Given the description of an element on the screen output the (x, y) to click on. 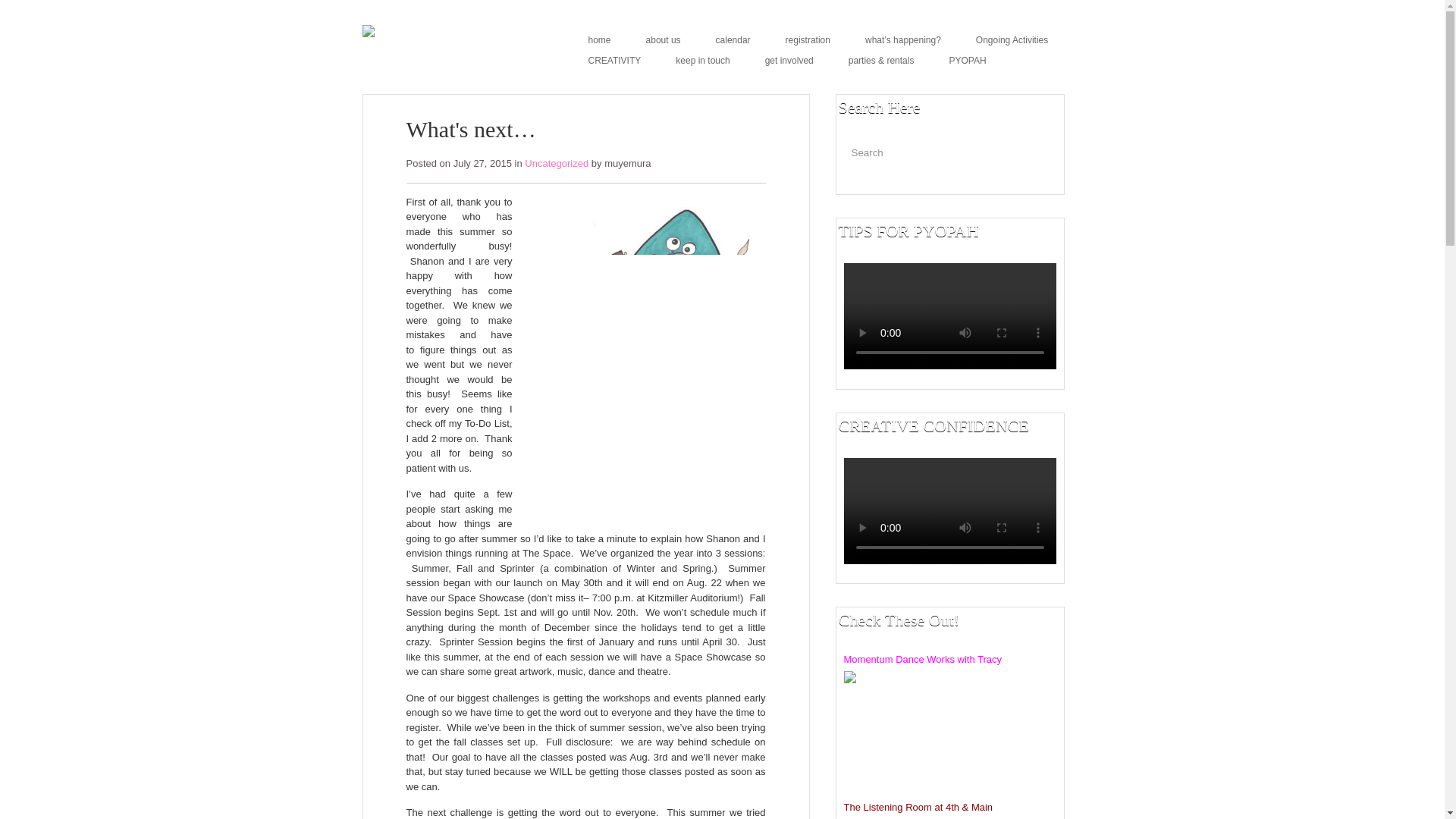
Search (1018, 152)
Uncategorized (556, 163)
The Listening Room a (891, 807)
muyemura (627, 163)
Ongoing Activities (1015, 40)
PYOPAH (970, 60)
Momentum Dance Works with Trac (919, 659)
Posts by muyemura (627, 163)
about us (667, 40)
get involved (792, 60)
